Given the description of an element on the screen output the (x, y) to click on. 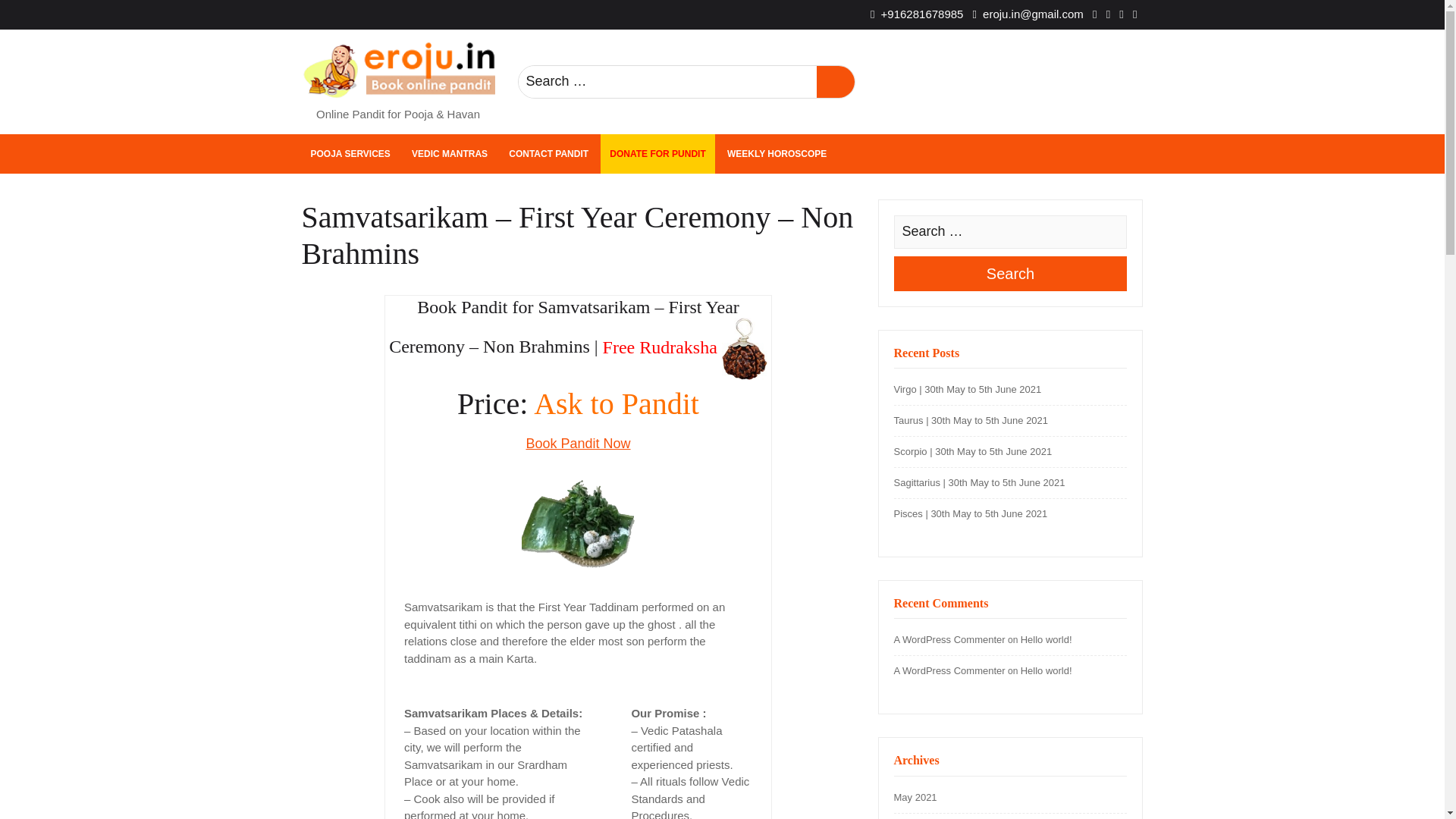
CONTACT PANDIT (548, 153)
Search (1009, 273)
A WordPress Commenter (948, 670)
WEEKLY HOROSCOPE (776, 153)
A WordPress Commenter (948, 639)
DONATE FOR PUNDIT (657, 153)
POOJA SERVICES (350, 153)
Book Pandit Now (577, 443)
Hello world! (1045, 639)
Hello world! (1045, 670)
May 2021 (914, 797)
VEDIC MANTRAS (449, 153)
Search (834, 82)
